Given the description of an element on the screen output the (x, y) to click on. 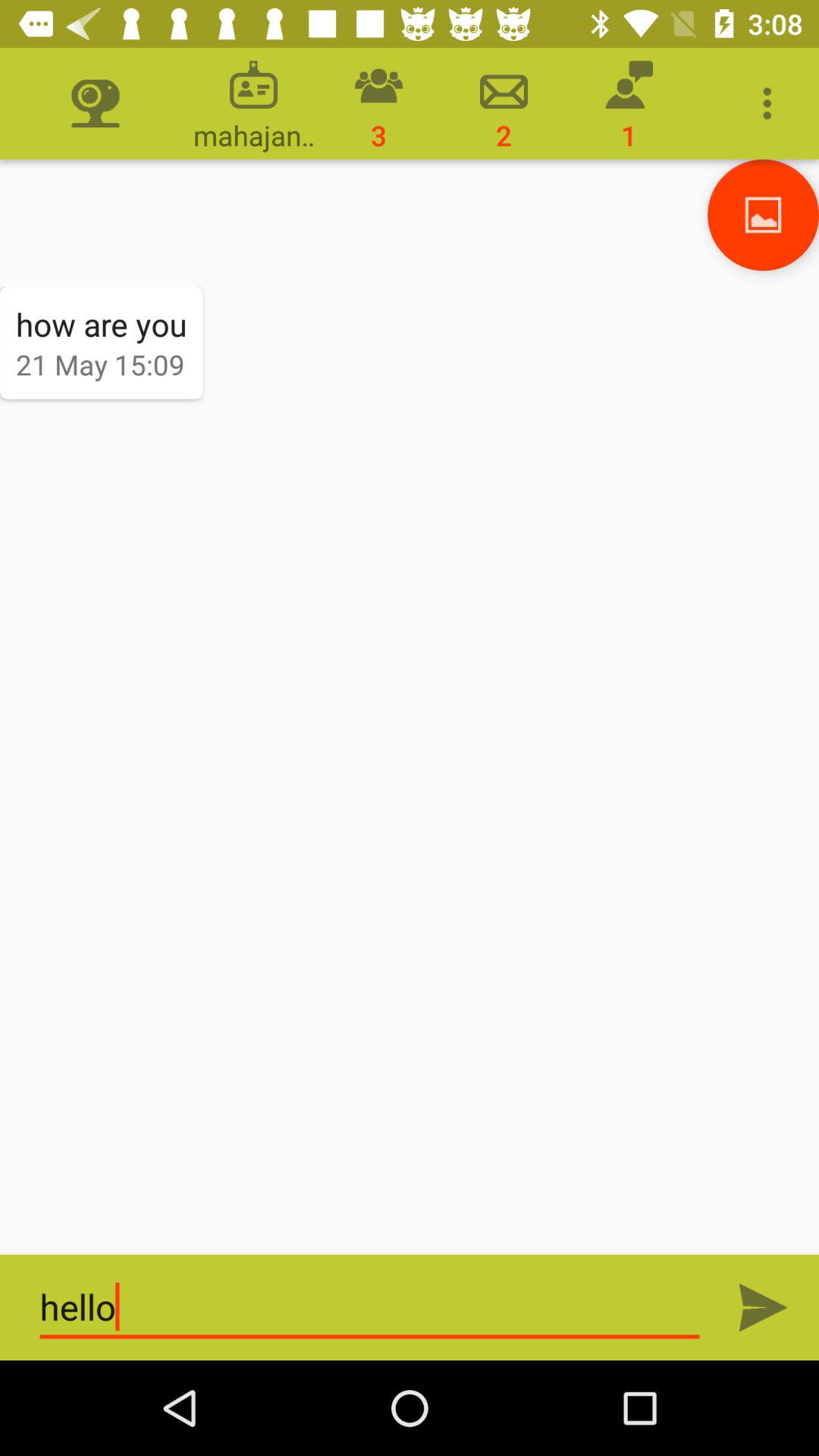
go to galary (763, 214)
